Given the description of an element on the screen output the (x, y) to click on. 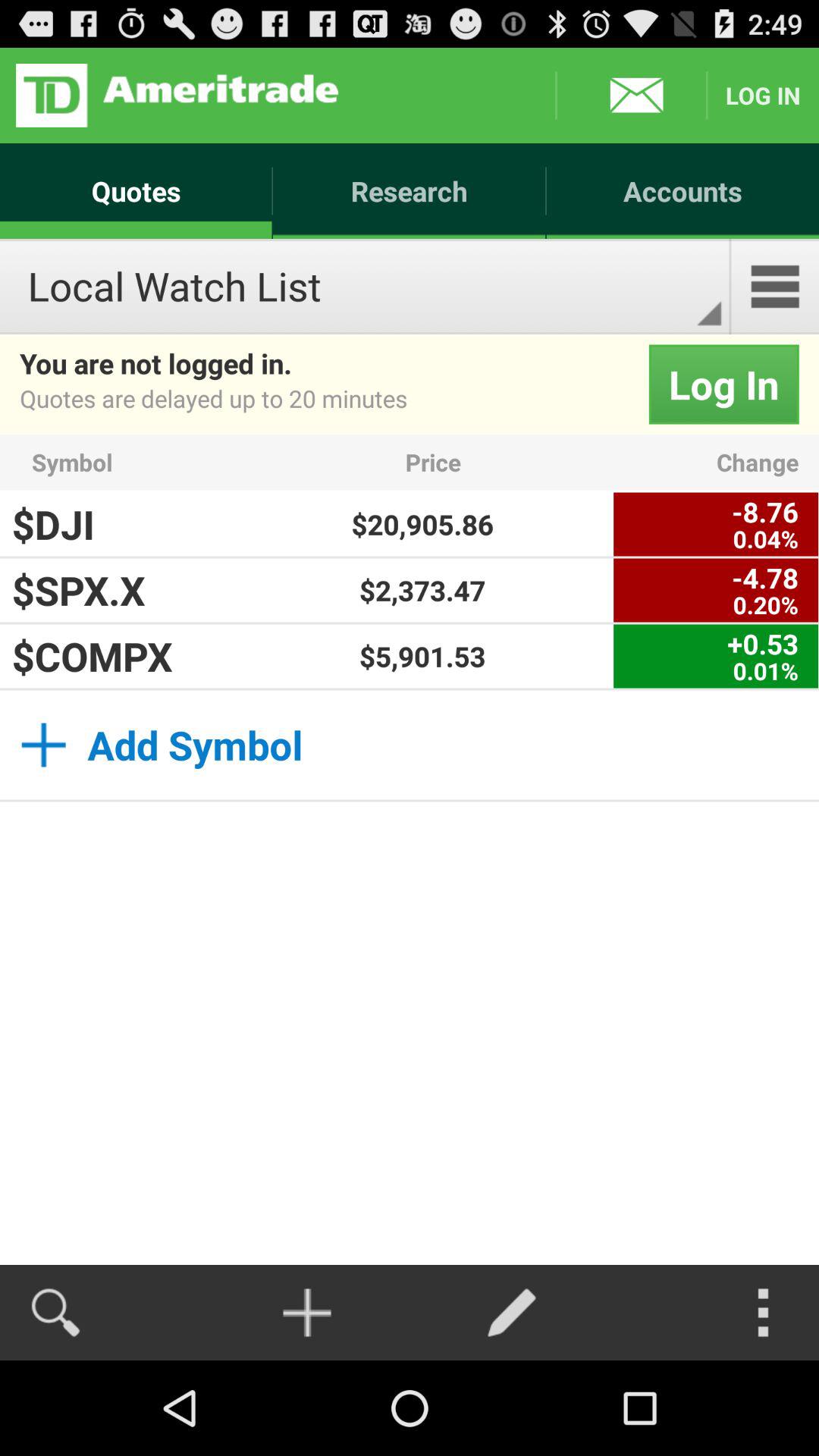
choose icon next to $20,905.86 item (715, 524)
